Given the description of an element on the screen output the (x, y) to click on. 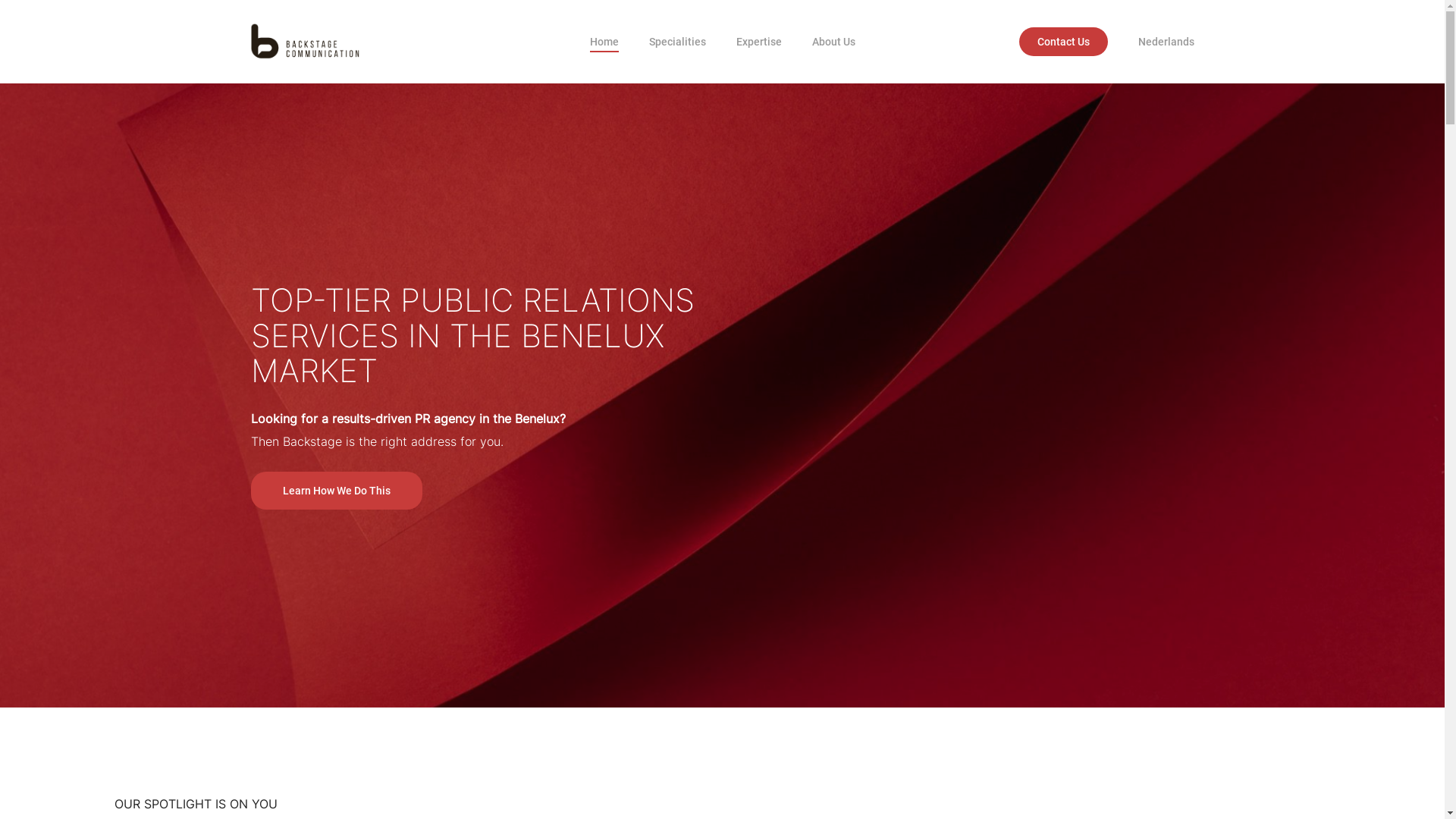
facebook Element type: text (1131, 794)
Home Element type: text (603, 41)
linkedin Element type: text (1158, 794)
instagram Element type: text (1187, 794)
About Us Element type: text (832, 41)
Learn How We Do This Element type: text (335, 490)
Contact Us Element type: text (1063, 41)
General Terms & Conditions Element type: text (415, 649)
Specialities Element type: text (677, 41)
Expertise Element type: text (758, 41)
Nederlands Element type: text (1166, 41)
website by nit'ras Element type: text (415, 698)
